Given the description of an element on the screen output the (x, y) to click on. 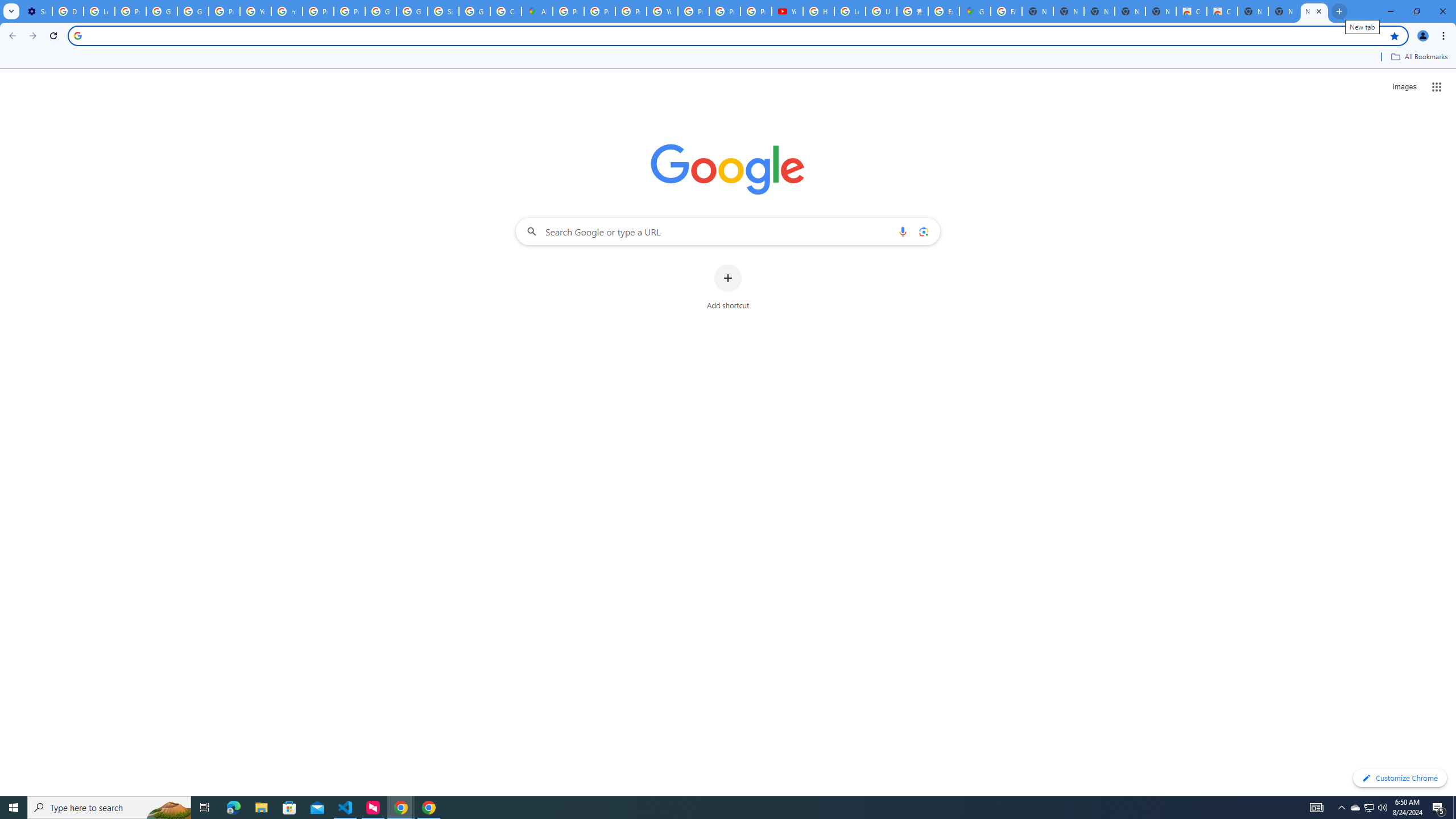
Settings - On startup (36, 11)
Privacy Help Center - Policies Help (631, 11)
YouTube (255, 11)
YouTube (662, 11)
How Chrome protects your passwords - Google Chrome Help (818, 11)
